Given the description of an element on the screen output the (x, y) to click on. 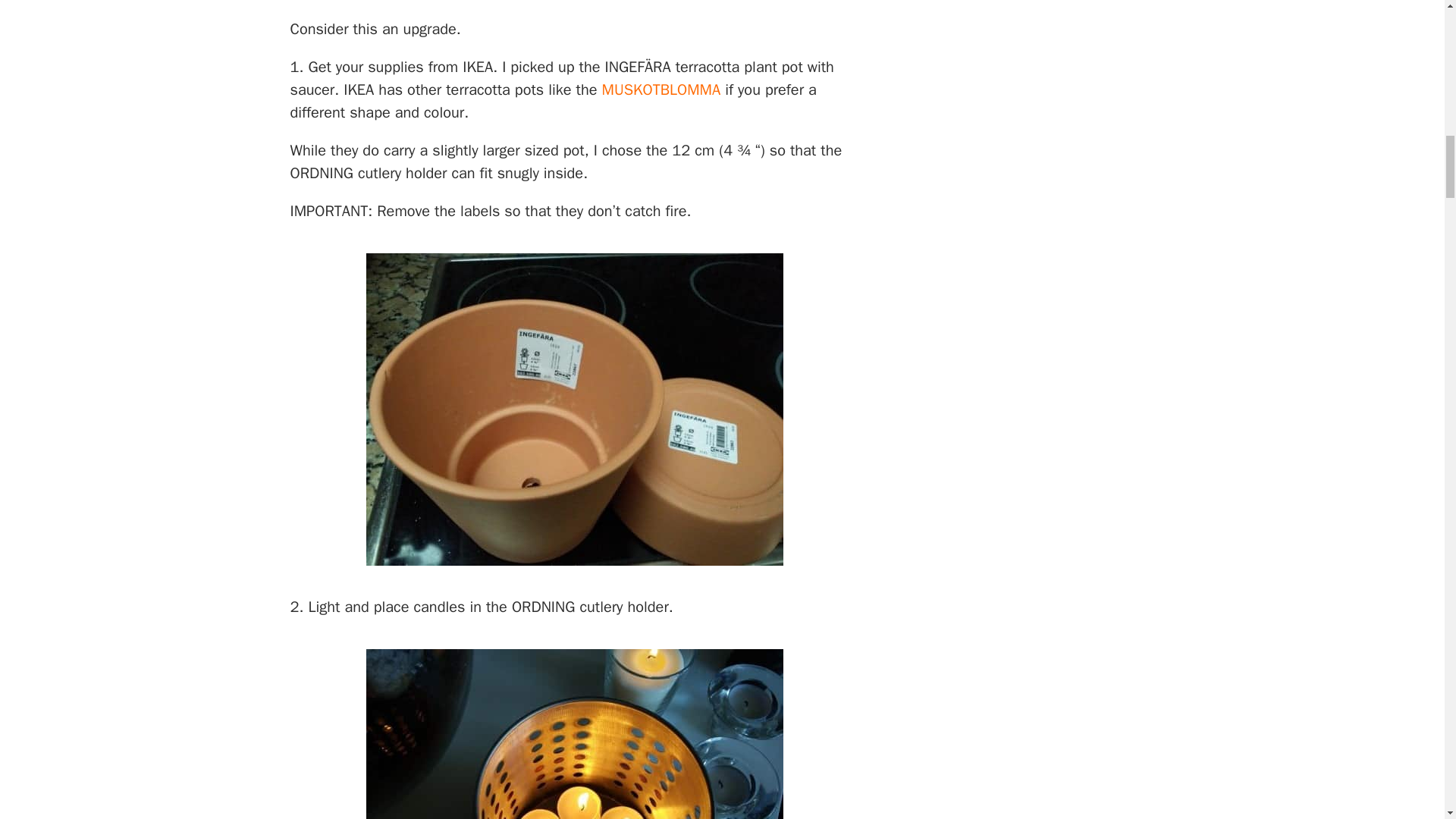
Terracotta pot heater made with just 3 IKEA items 5 (574, 409)
Terracotta pot heater made with just 3 IKEA items 6 (574, 734)
MUSKOTBLOMMA (661, 89)
